Given the description of an element on the screen output the (x, y) to click on. 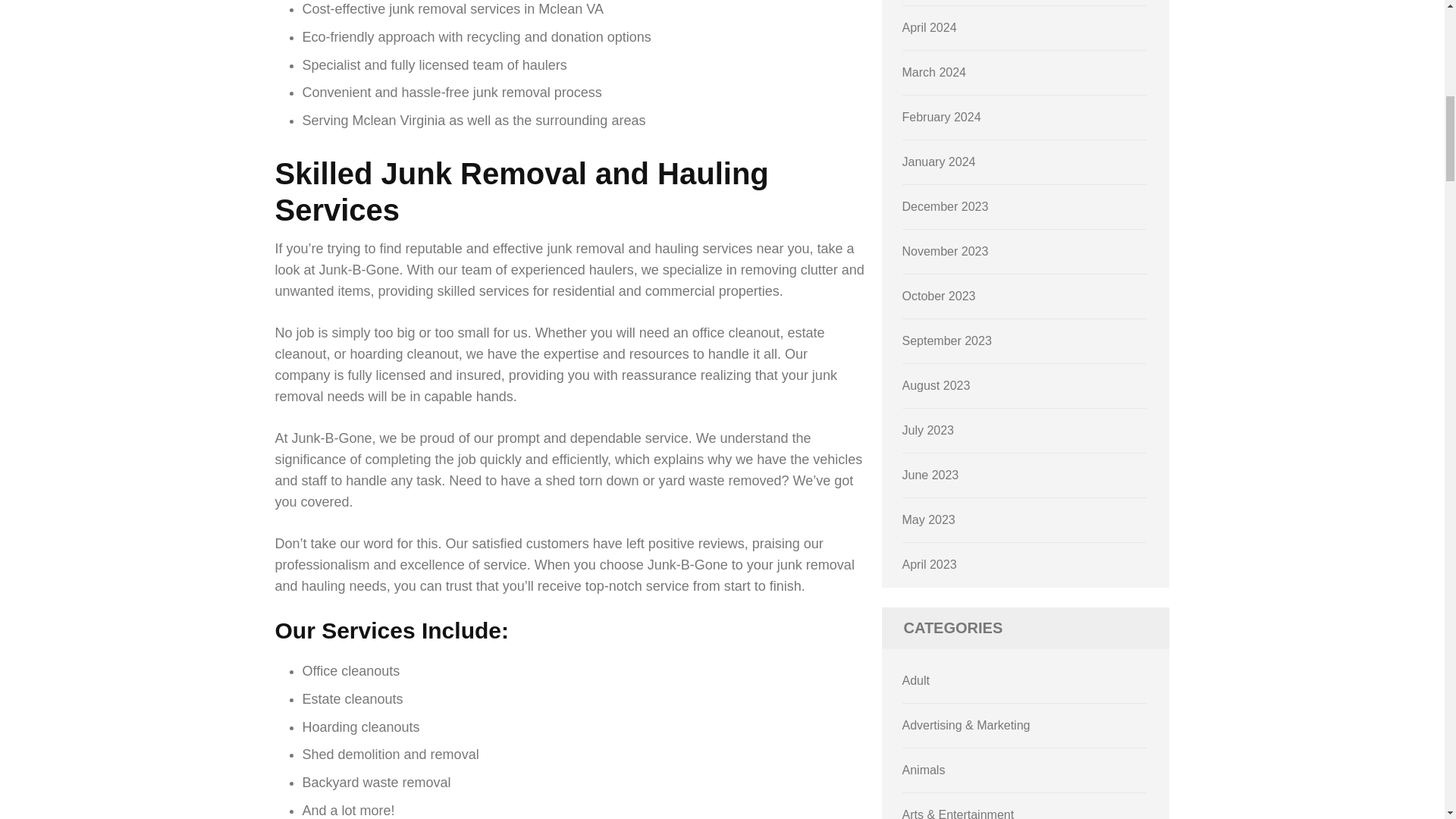
November 2023 (945, 250)
August 2023 (936, 385)
April 2024 (929, 27)
September 2023 (946, 340)
July 2023 (928, 430)
October 2023 (938, 295)
May 2023 (928, 519)
February 2024 (941, 116)
March 2024 (934, 72)
June 2023 (930, 474)
Animals (923, 769)
January 2024 (938, 161)
December 2023 (945, 205)
April 2023 (929, 563)
Adult (916, 680)
